Given the description of an element on the screen output the (x, y) to click on. 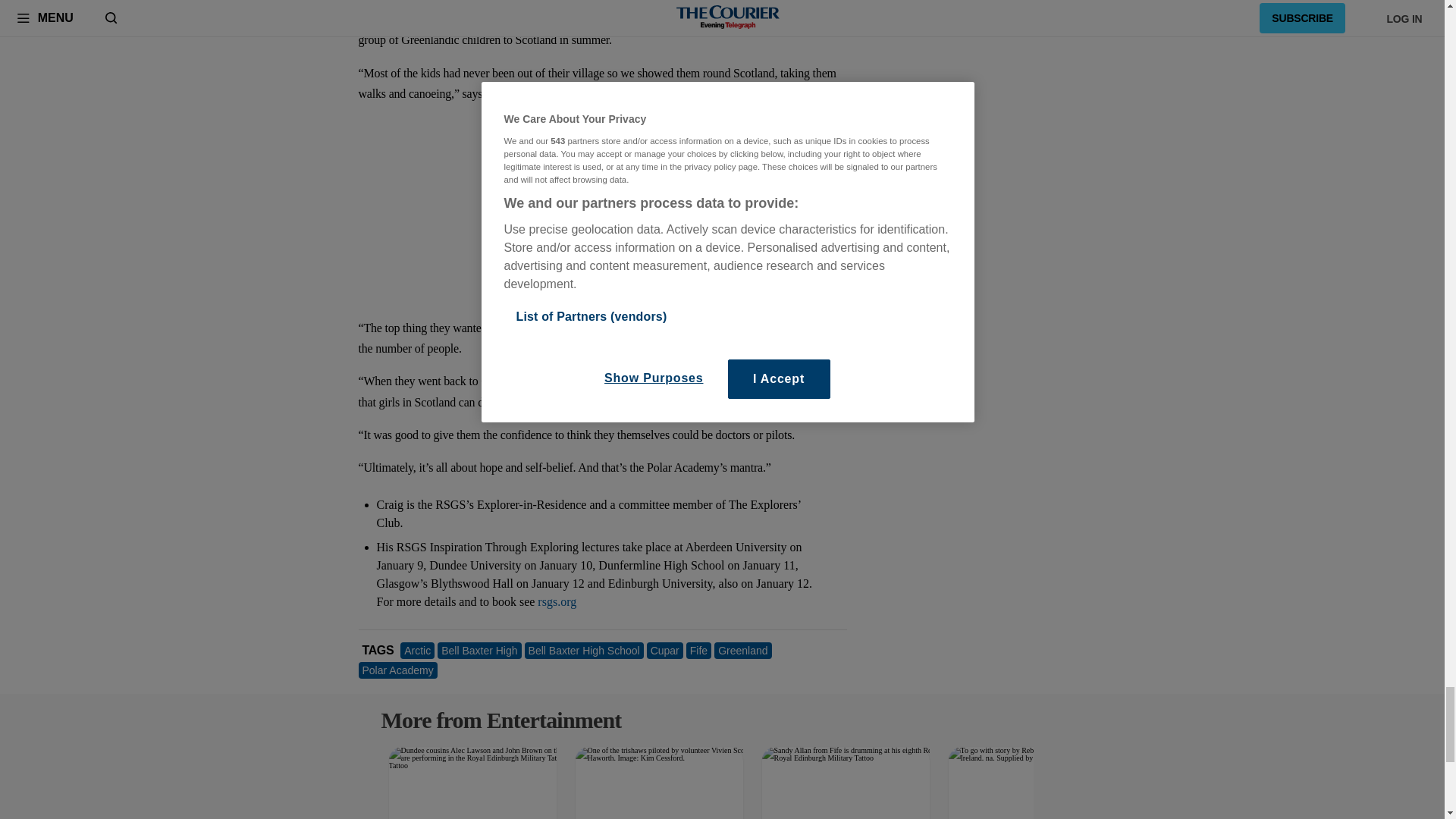
More from Entertainment (493, 712)
